Given the description of an element on the screen output the (x, y) to click on. 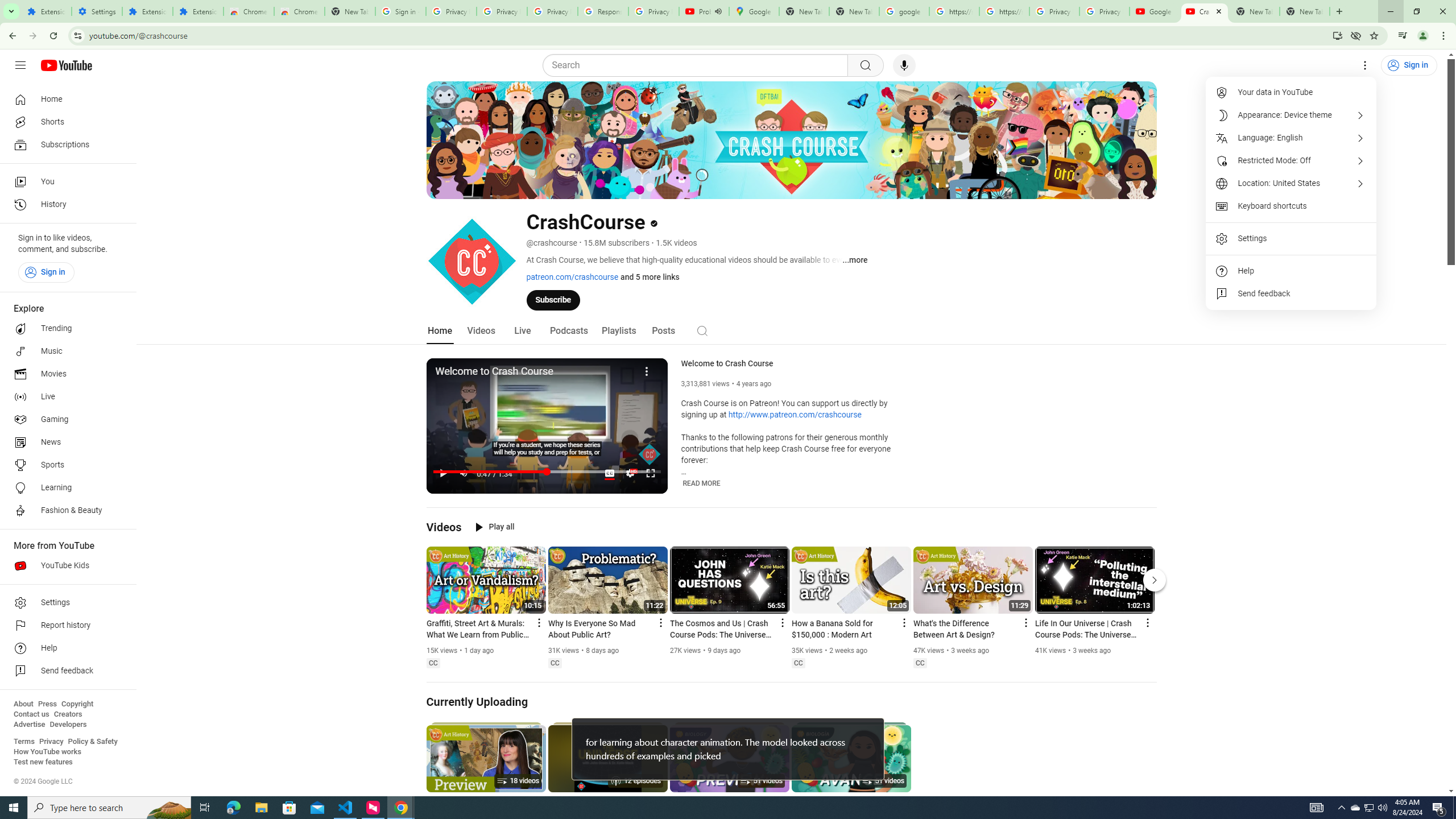
READ MORE (701, 482)
Podcasts (568, 330)
Videos (481, 330)
Install YouTube (1336, 35)
More (647, 370)
Policy & Safety (91, 741)
Home (440, 330)
How YouTube works (47, 751)
YouTube Home (66, 65)
Test new features (42, 761)
